Given the description of an element on the screen output the (x, y) to click on. 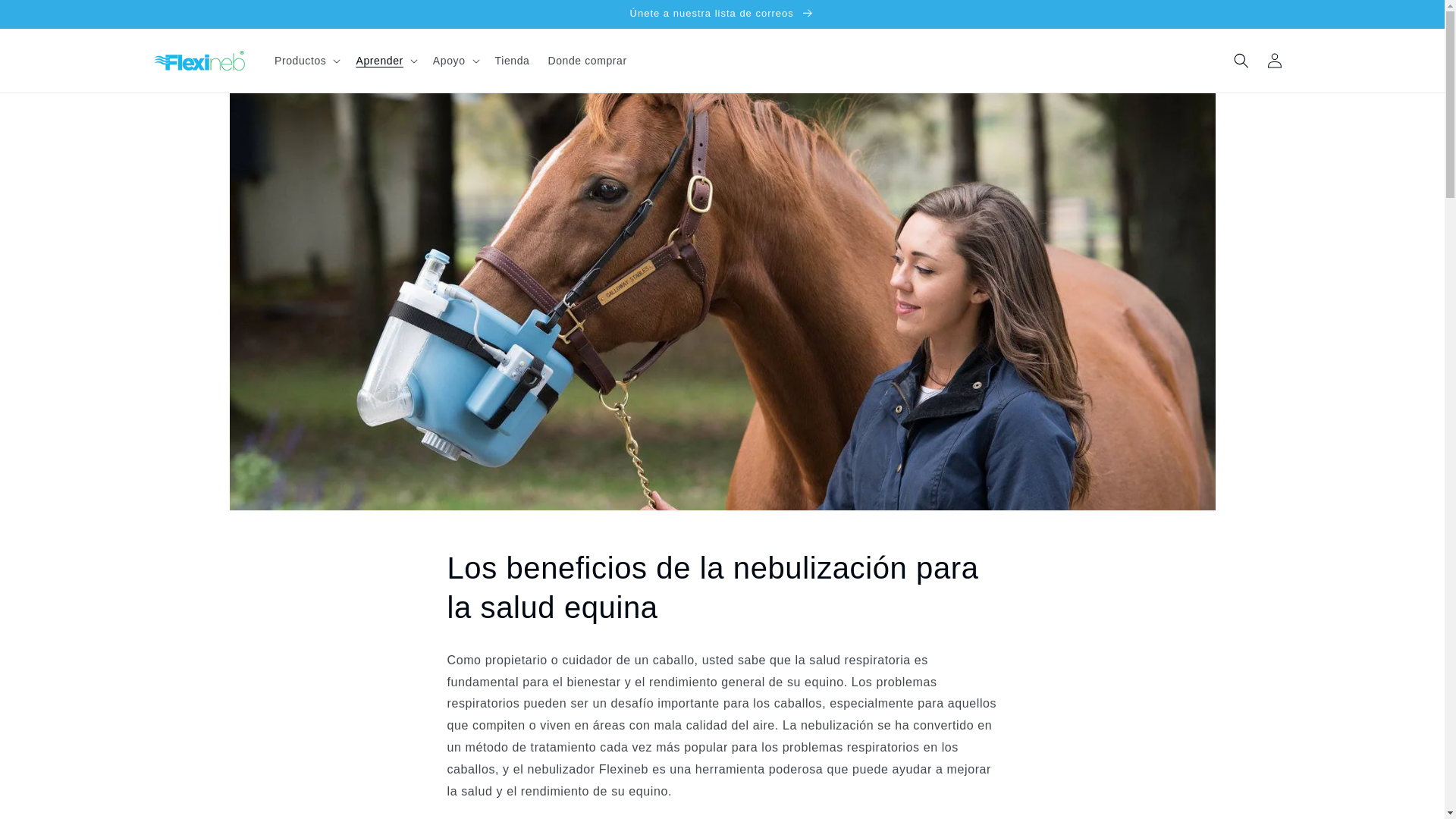
Ir directamente al contenido (45, 17)
